Given the description of an element on the screen output the (x, y) to click on. 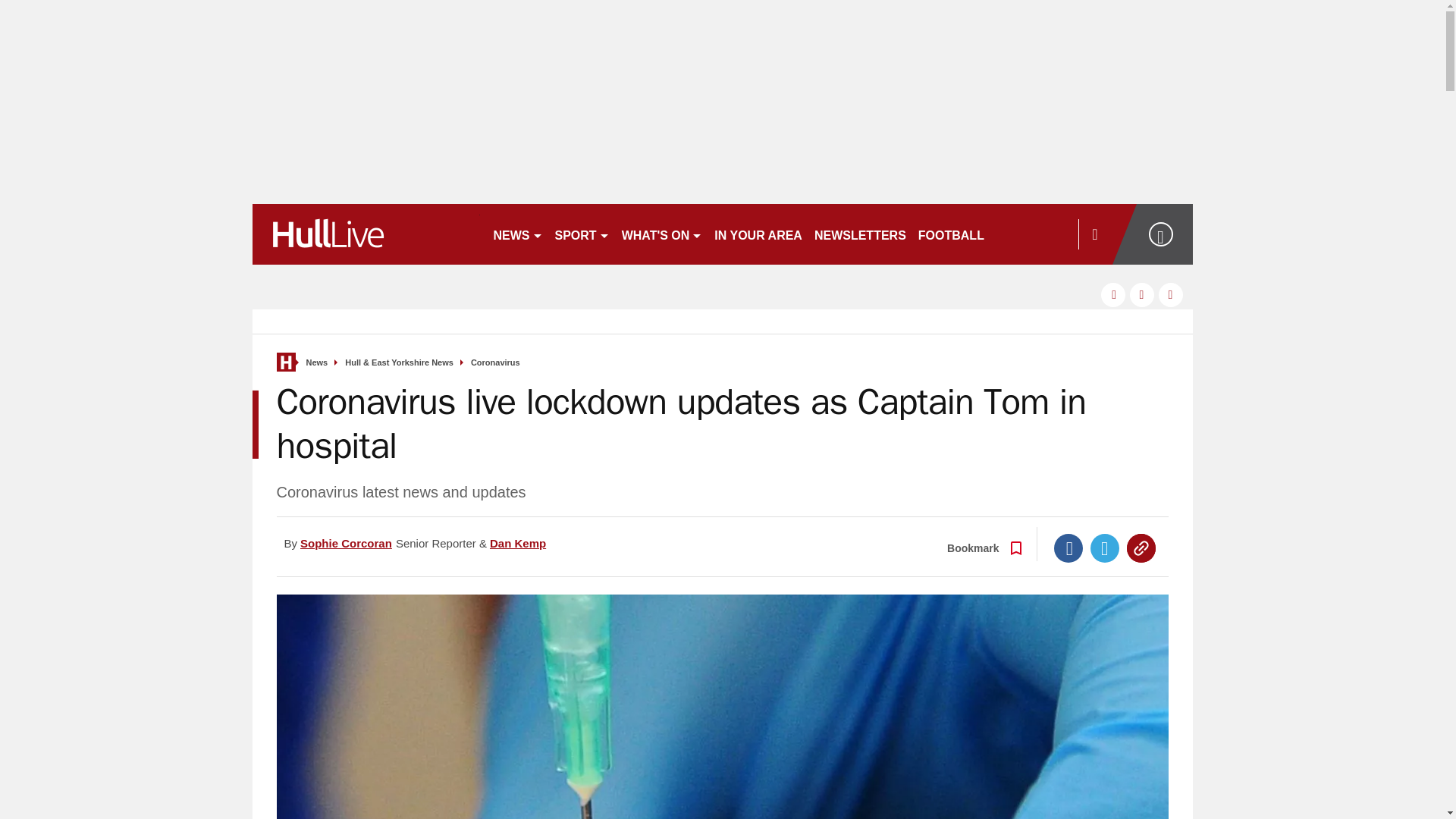
hulldailymail (365, 233)
NEWS (517, 233)
RUGBY LEAGUE (1045, 233)
facebook (1112, 294)
Twitter (1104, 547)
twitter (1141, 294)
WHAT'S ON (662, 233)
FOOTBALL (951, 233)
Facebook (1068, 547)
SPORT (581, 233)
NEWSLETTERS (860, 233)
IN YOUR AREA (757, 233)
instagram (1170, 294)
